Given the description of an element on the screen output the (x, y) to click on. 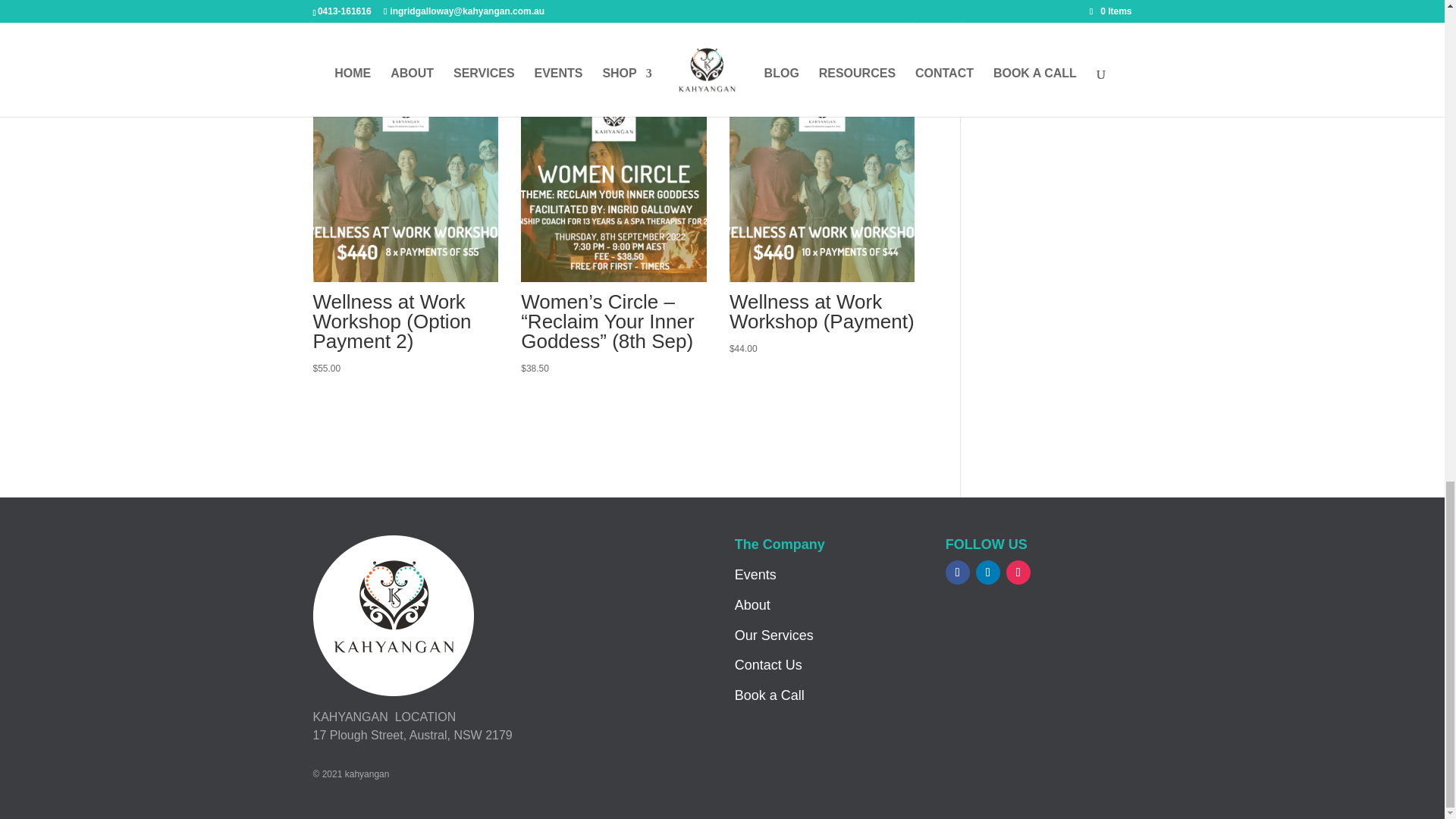
Follow on LinkedIn (987, 572)
logoheader (393, 615)
Follow on Instagram (1018, 572)
Follow on Facebook (956, 572)
